Given the description of an element on the screen output the (x, y) to click on. 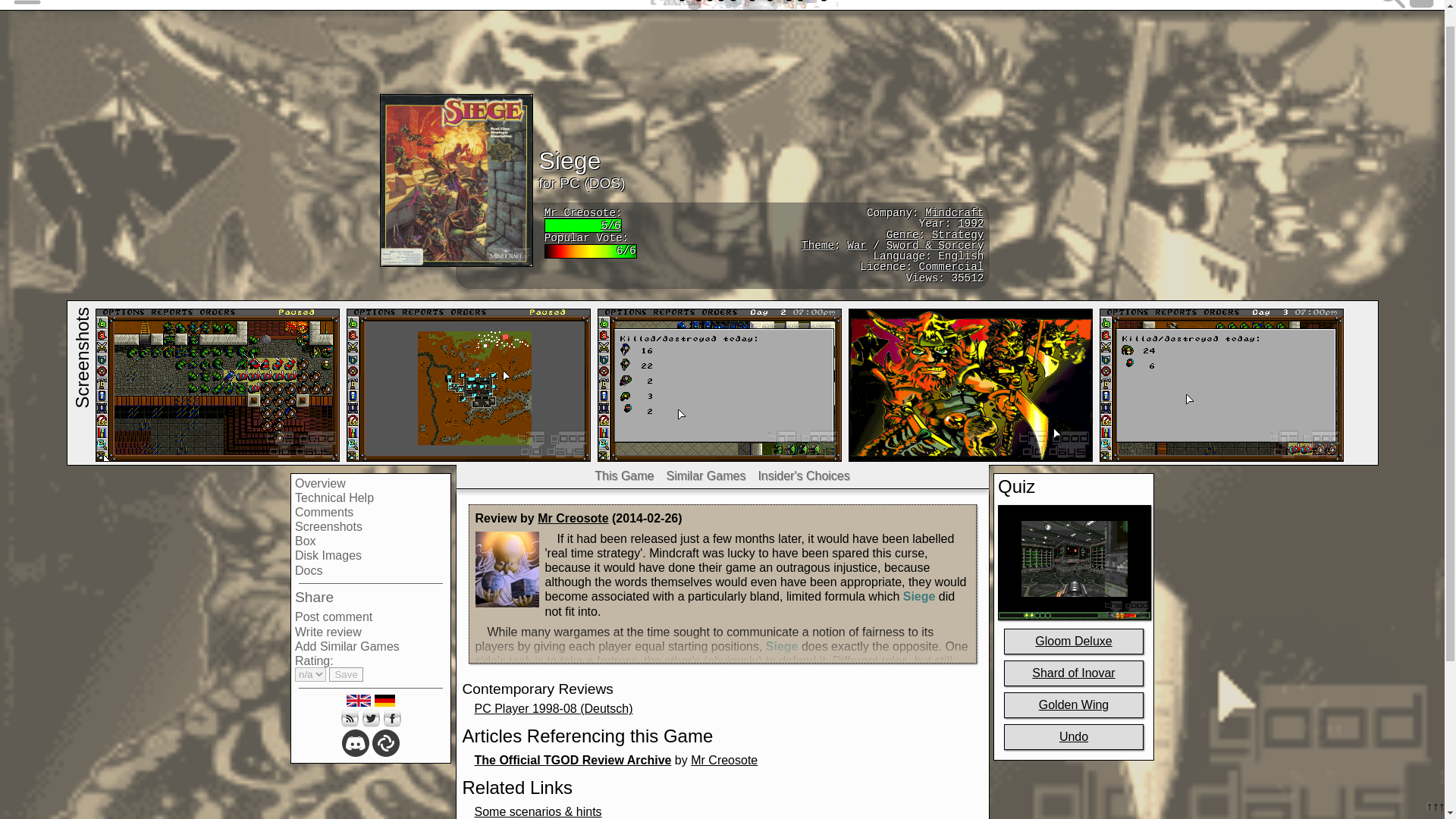
Commercial (951, 266)
Mr Creosote (572, 517)
Save (345, 674)
Theme (818, 245)
The Good Old Days (743, 4)
? (818, 245)
Facebook (391, 718)
Strategy (957, 234)
Discord (355, 742)
Matrix (385, 742)
